Given the description of an element on the screen output the (x, y) to click on. 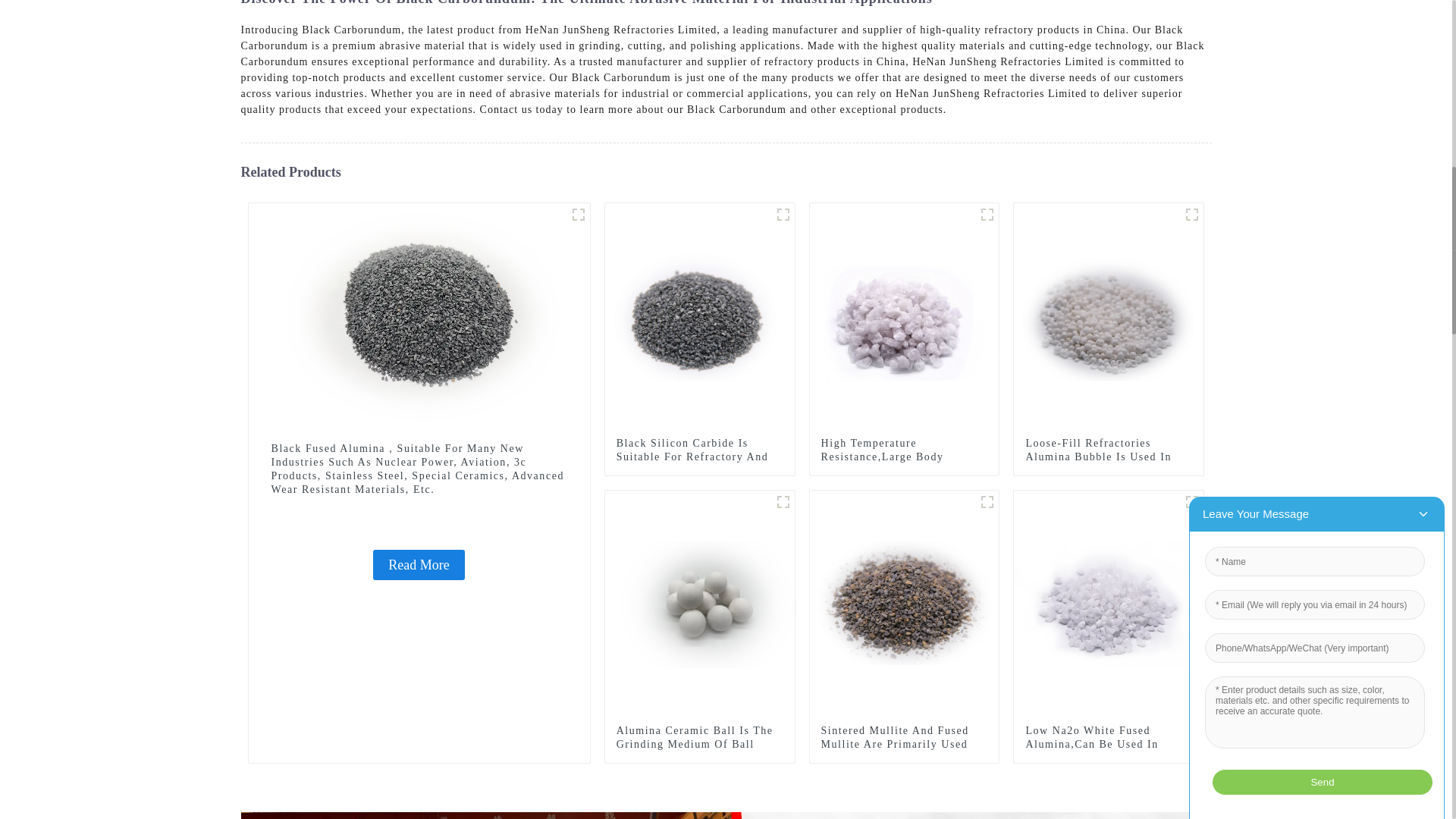
Read More (418, 564)
